Given the description of an element on the screen output the (x, y) to click on. 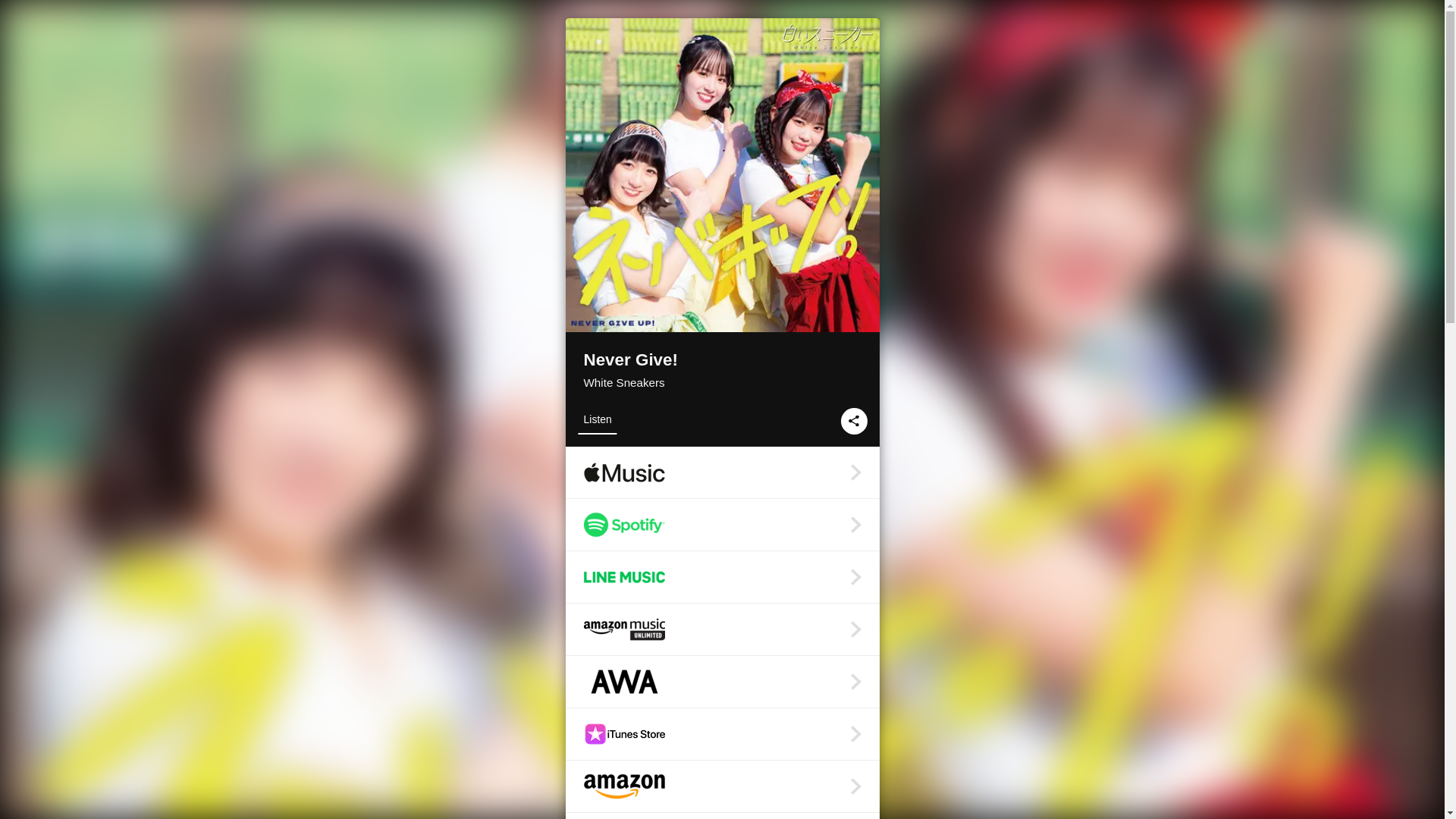
Available on Amazon Music (722, 786)
Available on recochoku (722, 816)
White Sneakers (624, 382)
Available on AWA (722, 681)
Available on Apple Music (722, 471)
Never Give! (722, 360)
Available on Amazon Music Unlimited (722, 629)
Available on iTunes (722, 734)
Available on LINE MUSIC (722, 576)
White Sneakers (624, 382)
Available on Spotify (722, 524)
